Given the description of an element on the screen output the (x, y) to click on. 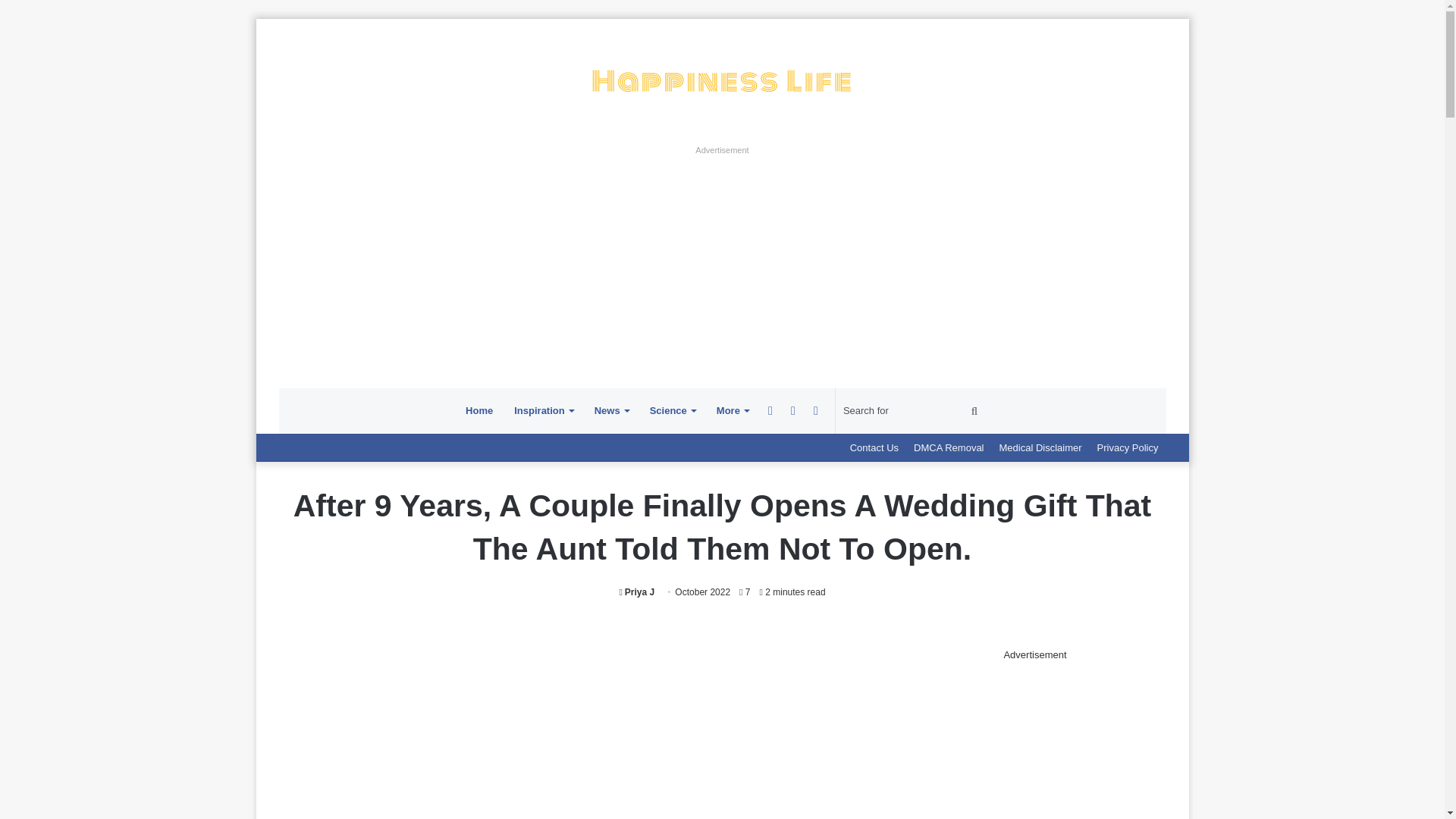
Contact Us (874, 447)
Search for (912, 411)
DMCA Removal (948, 447)
Priya J (635, 592)
News (611, 411)
Happiness Life (721, 80)
Home (478, 411)
Medical Disclaimer (1040, 447)
Inspiration (543, 411)
More (732, 411)
Privacy Policy (1127, 447)
Science (672, 411)
